Given the description of an element on the screen output the (x, y) to click on. 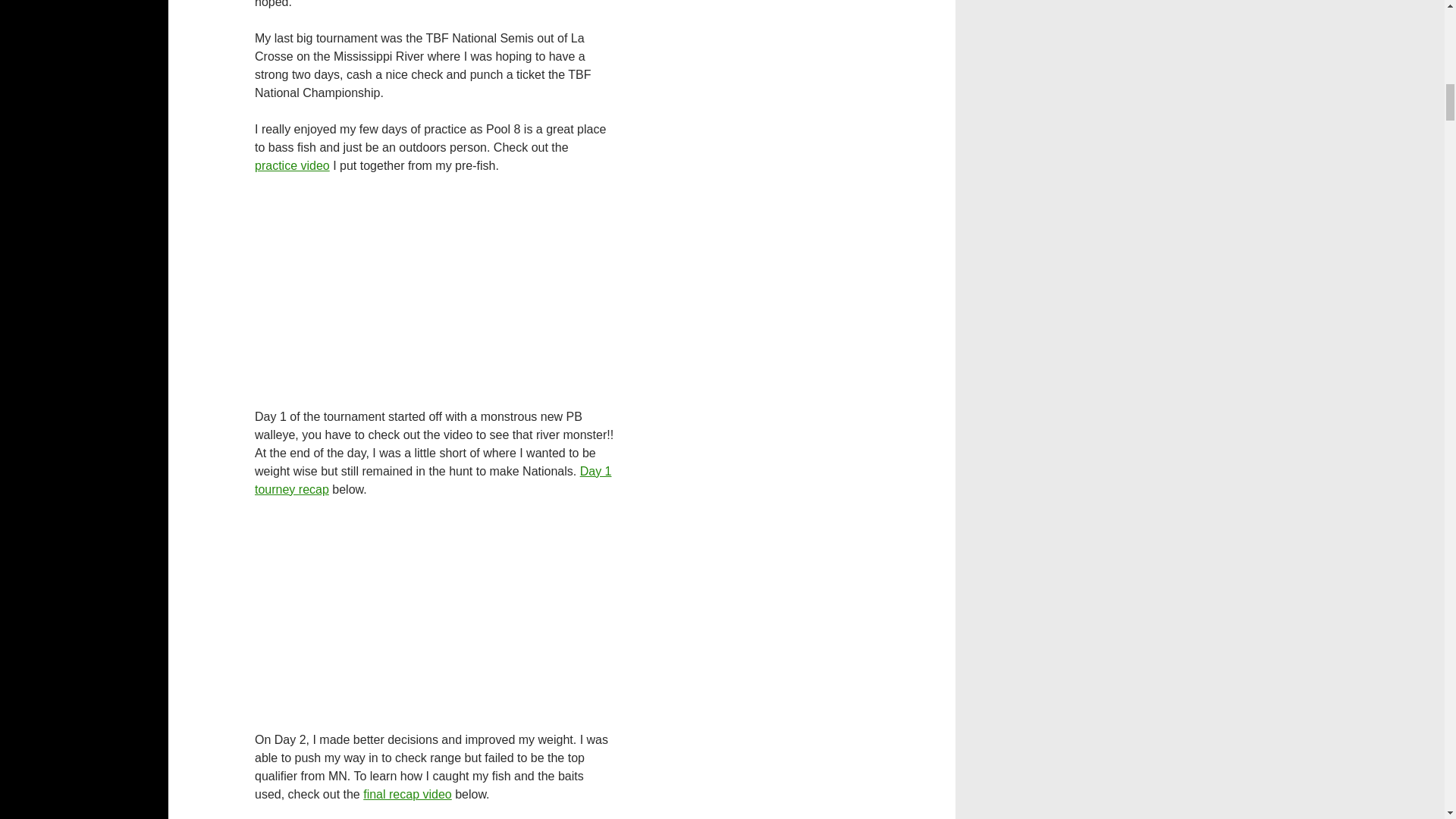
practice video (292, 164)
final recap video (406, 793)
Day 1 tourney recap (432, 480)
